Given the description of an element on the screen output the (x, y) to click on. 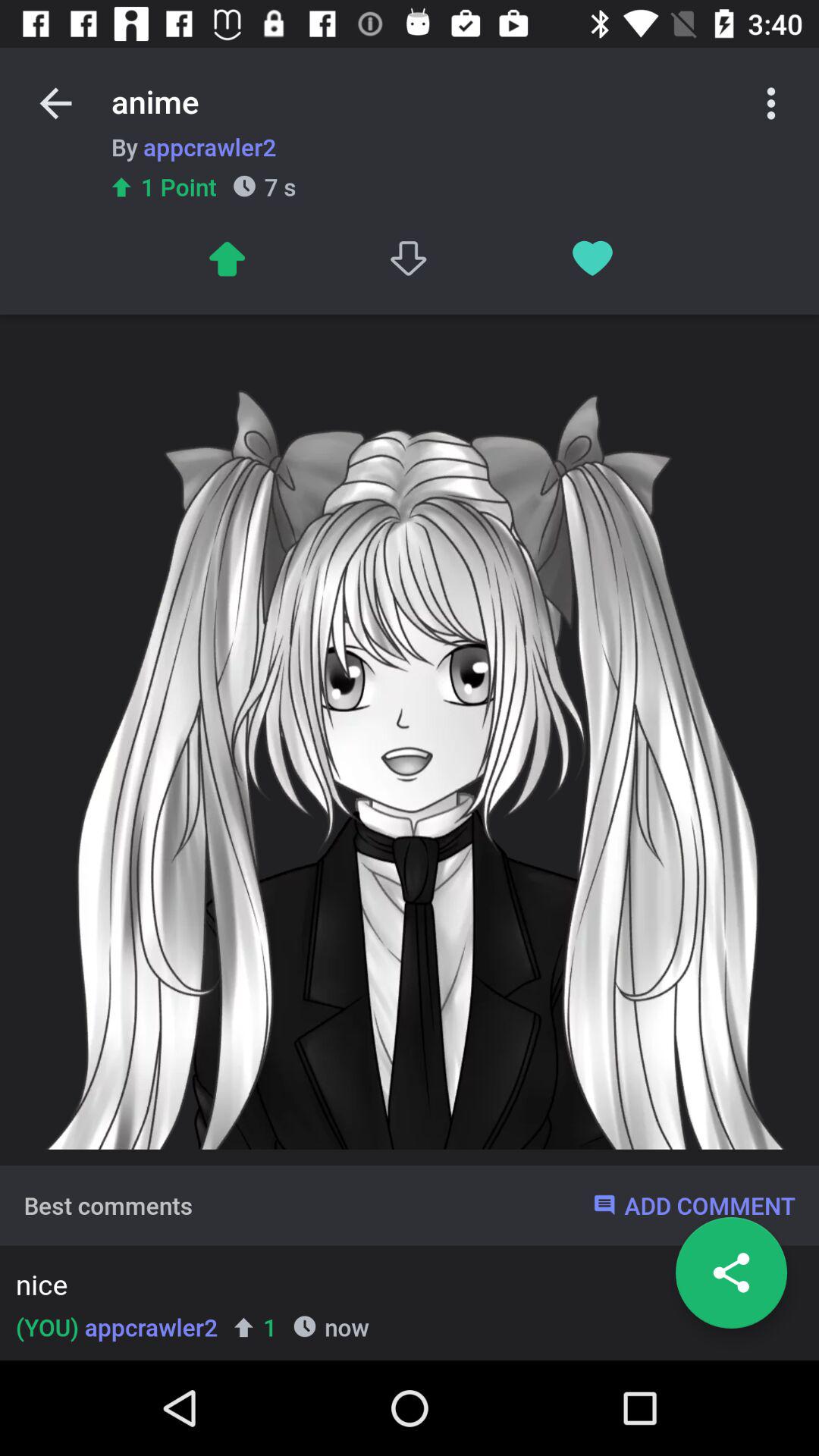
flip until nice  item (405, 1287)
